Given the description of an element on the screen output the (x, y) to click on. 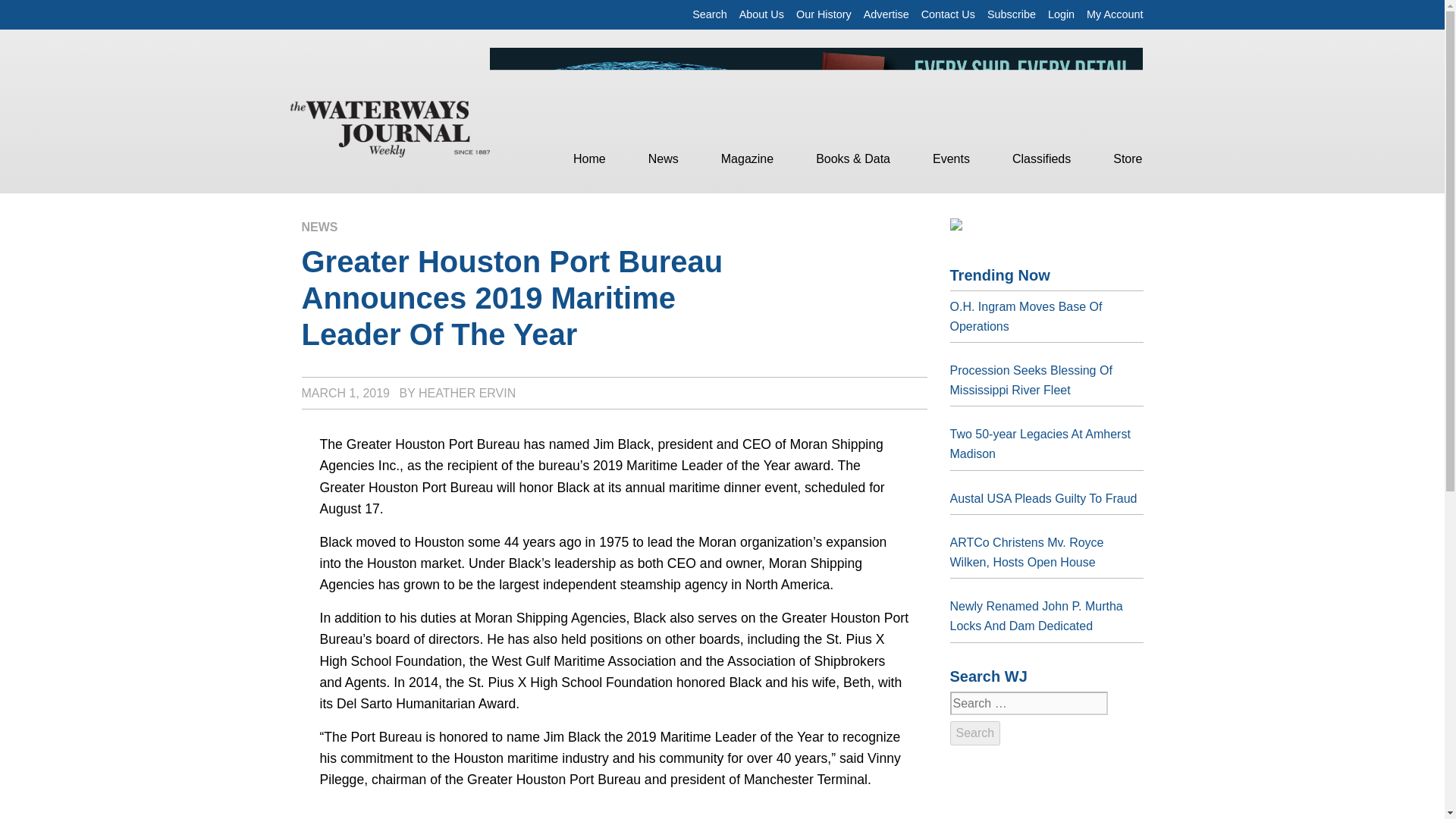
Search (974, 733)
Subscribe (1011, 14)
Our History (823, 14)
Login (1061, 14)
The Waterways Journal (389, 125)
Home (588, 159)
The Waterways Journal (389, 126)
Search (709, 14)
Search (709, 14)
News (663, 159)
